Given the description of an element on the screen output the (x, y) to click on. 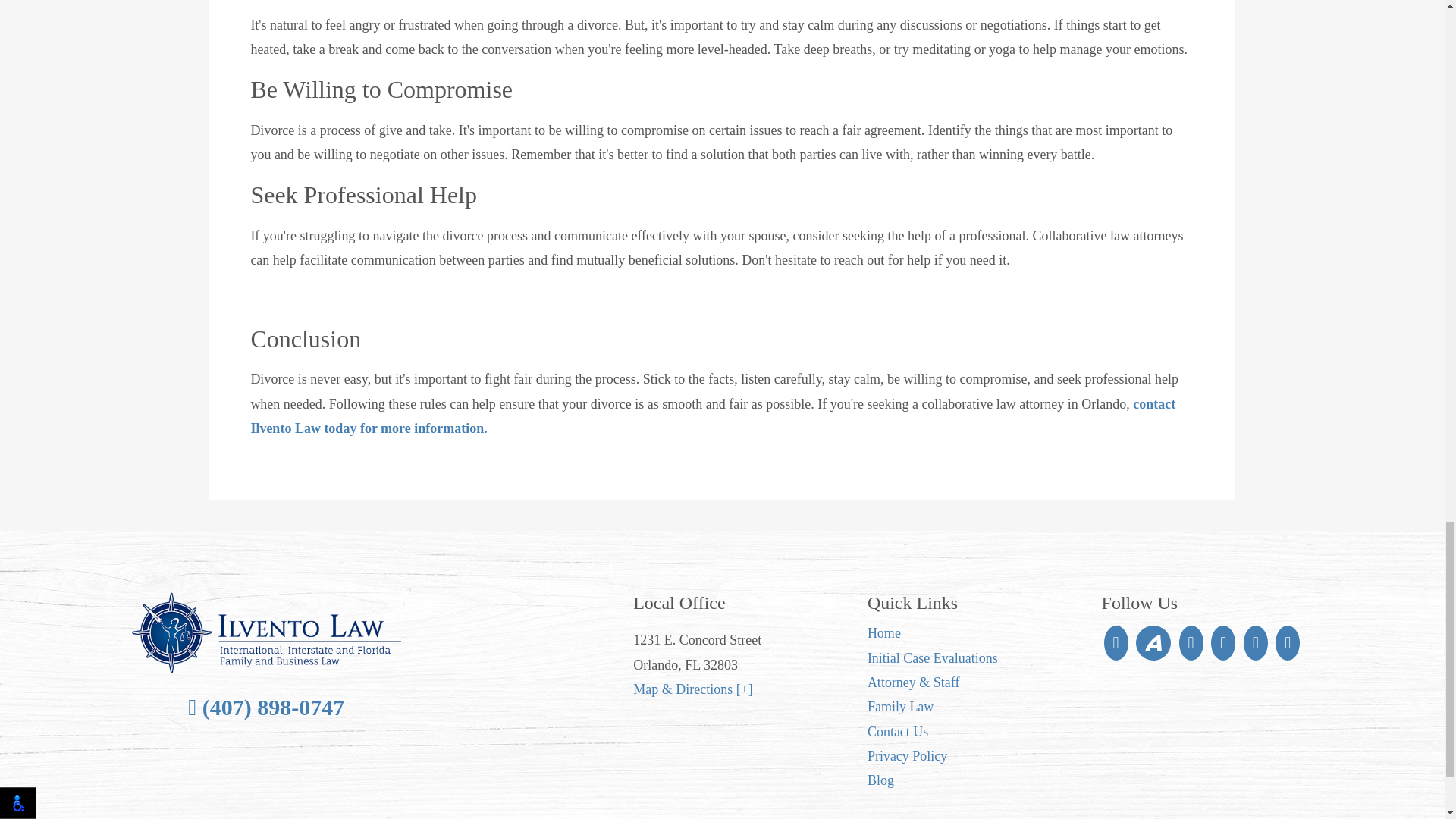
Family Law (900, 706)
Contact Us (897, 731)
Initial Case Evaluations (932, 657)
Ilvento Law, P.A., Orlando Divorce Attorney (266, 632)
contact Ilvento Law today for more information. (712, 415)
Blog (880, 780)
Privacy Policy (907, 755)
Home (884, 632)
